Given the description of an element on the screen output the (x, y) to click on. 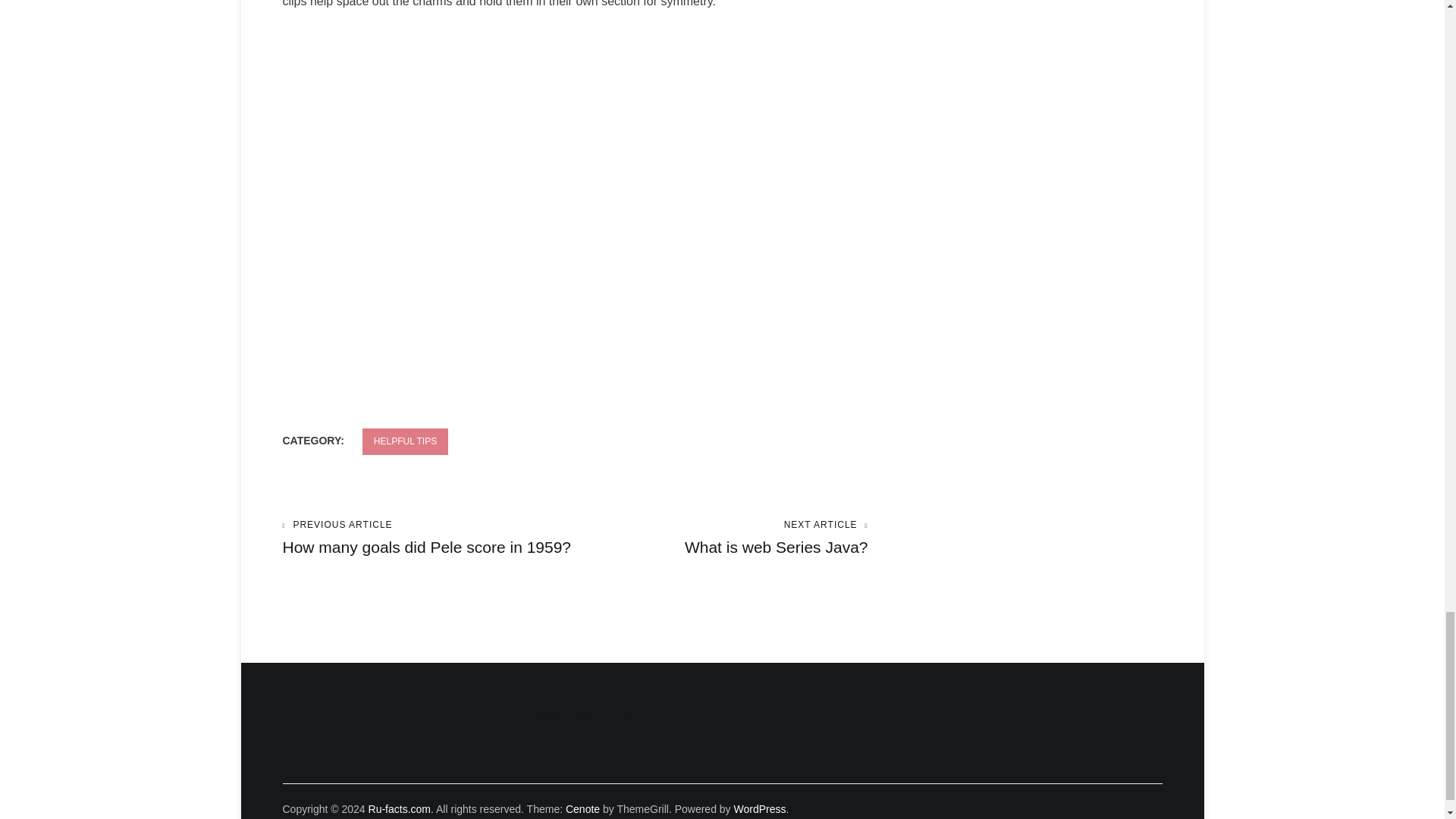
Ru-facts.com (399, 808)
HELPFUL TIPS (428, 537)
